Given the description of an element on the screen output the (x, y) to click on. 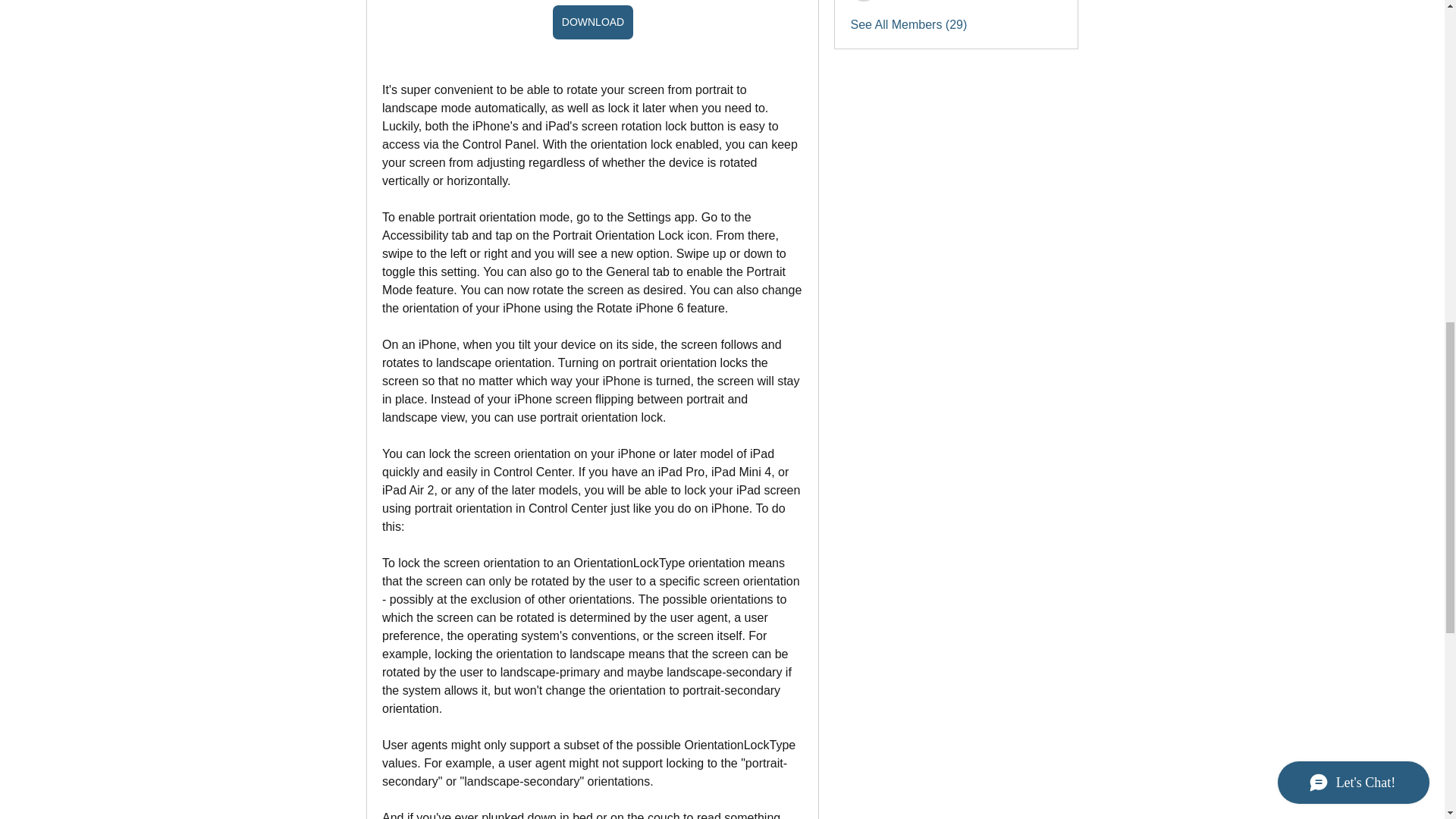
Ra He (863, 0)
DOWNLOAD (591, 21)
